Given the description of an element on the screen output the (x, y) to click on. 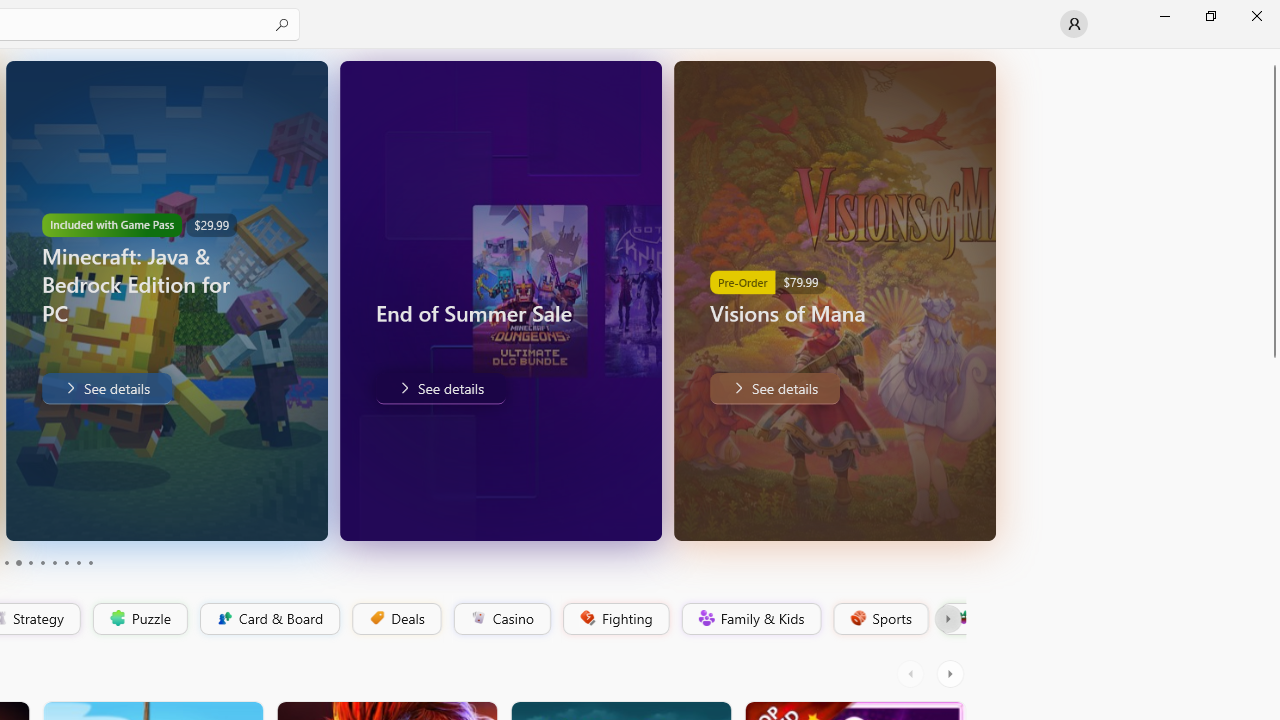
End of Summer Sale. Save up to 80%.  . See details (410, 387)
Page 8 (65, 562)
Class: Image (961, 617)
Restore Microsoft Store (1210, 15)
AutomationID: LeftScrollButton (913, 673)
Page 9 (77, 562)
Page 3 (5, 562)
Page 5 (29, 562)
Family & Kids (750, 619)
Sports (879, 619)
AutomationID: Image (989, 300)
Vertical Small Decrease (1272, 55)
AutomationID: RightScrollButton (952, 673)
